Given the description of an element on the screen output the (x, y) to click on. 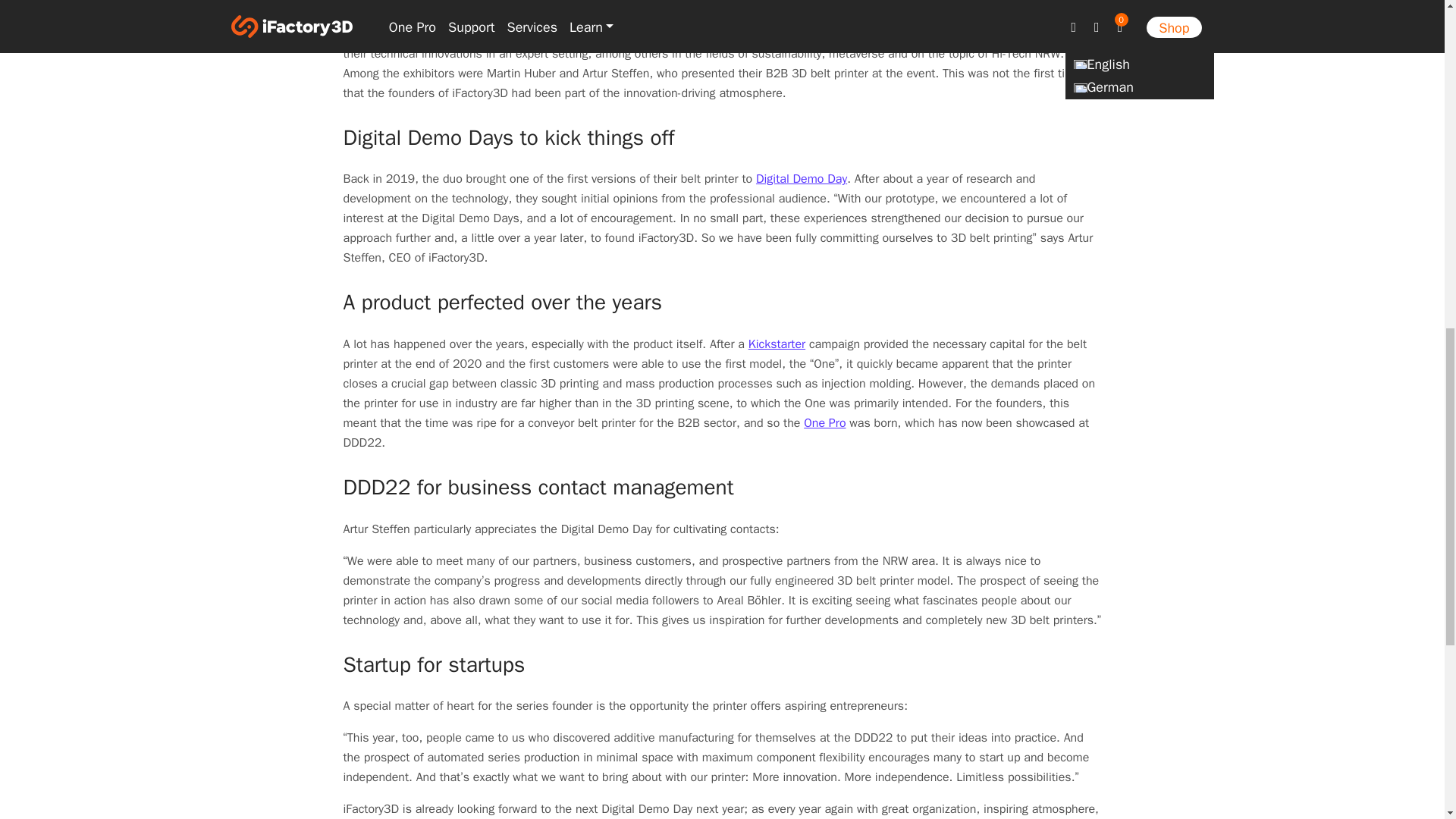
Kickstarter (776, 344)
Digital Demo Day (801, 178)
One Pro (824, 422)
